Given the description of an element on the screen output the (x, y) to click on. 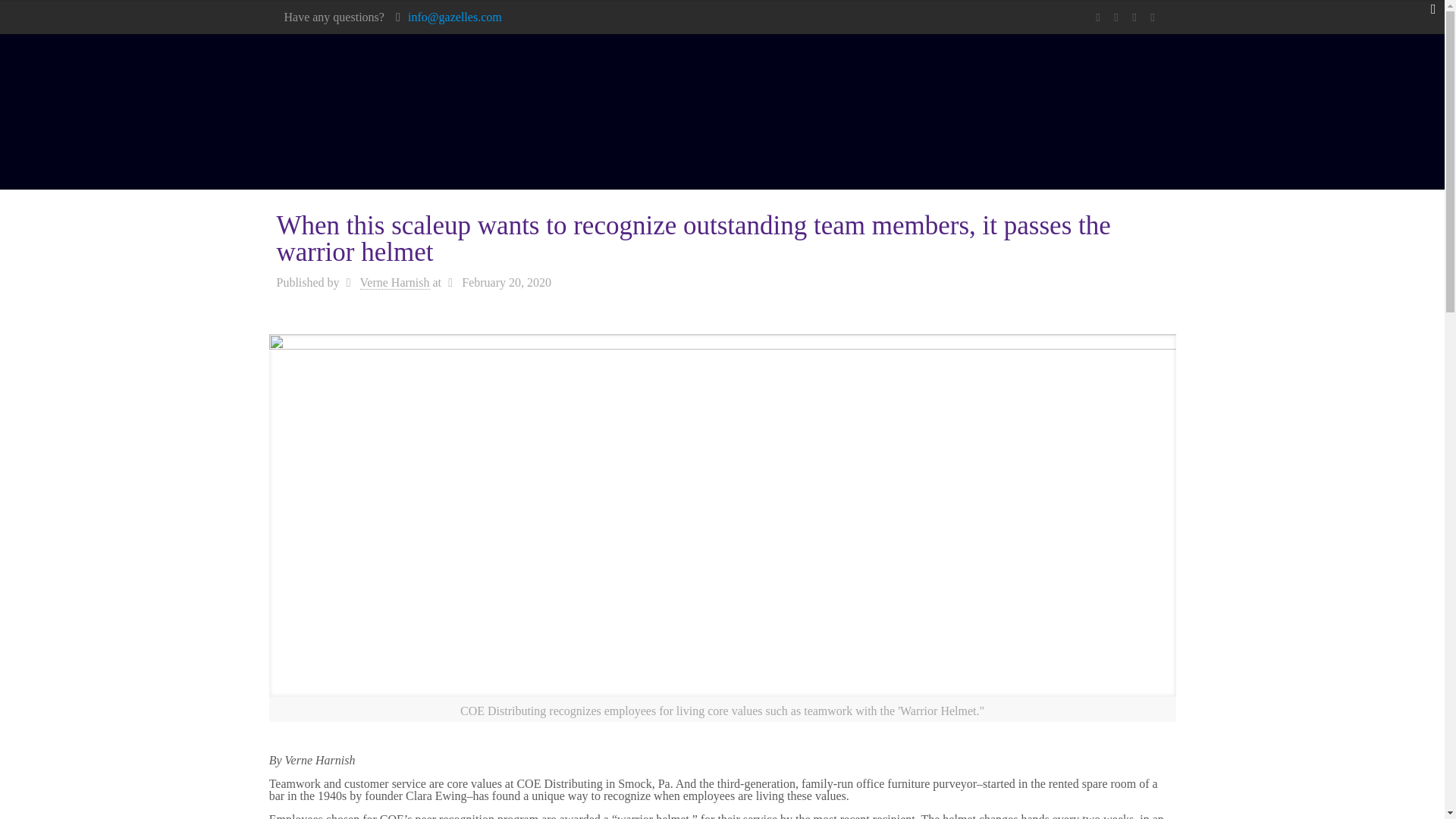
Verne Harnish (394, 282)
Twitter (1116, 17)
YouTube (1134, 17)
Facebook (1098, 17)
LinkedIn (1153, 17)
